Given the description of an element on the screen output the (x, y) to click on. 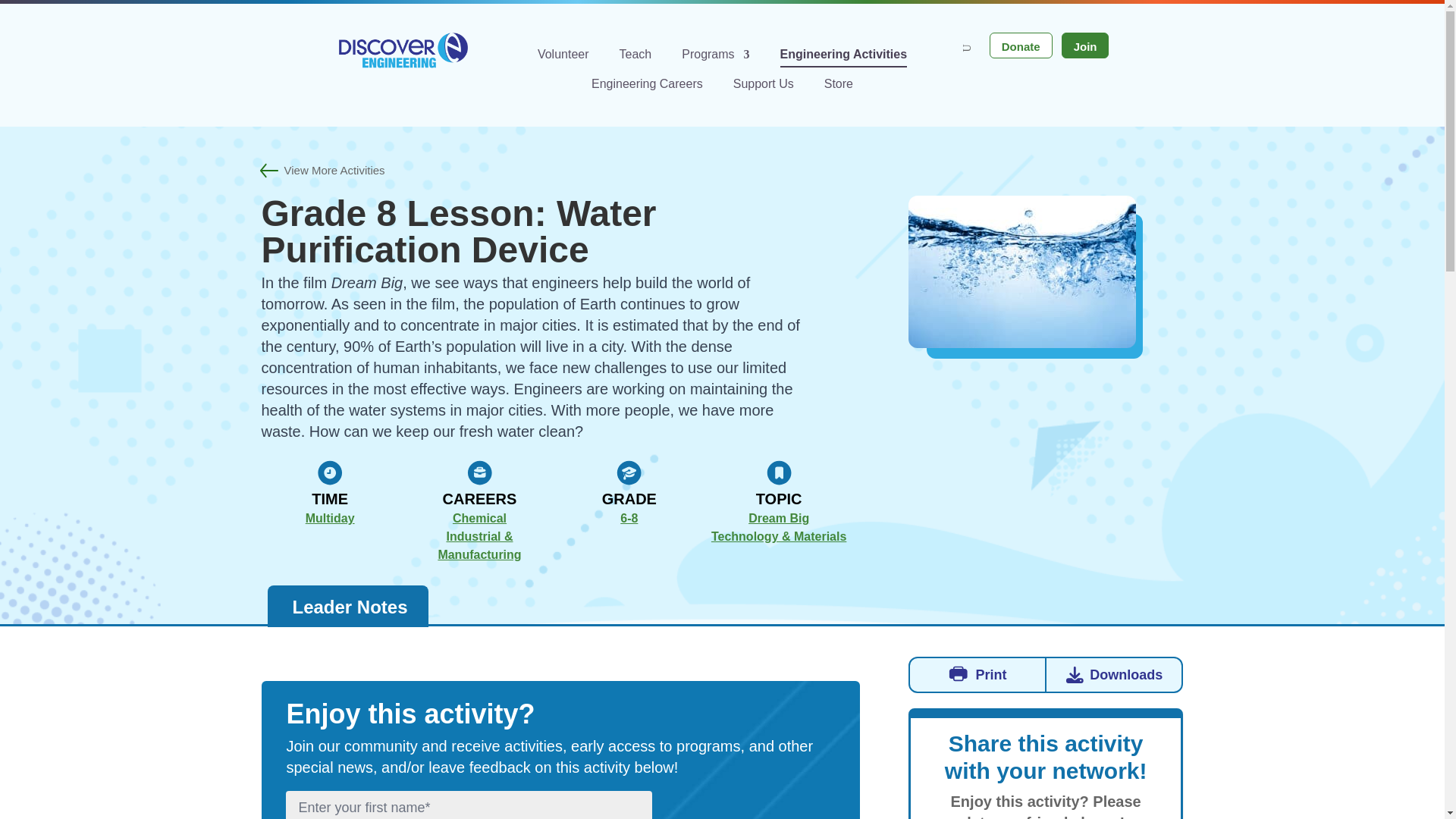
Engineering Careers (647, 86)
Link to Leader Notes page (347, 606)
Join (1085, 45)
Back to activities listing (321, 170)
Engineering Activities (843, 58)
Grade 8 Lesson: Water Purification Device (1021, 271)
Link to Chemical filtered listing page (479, 518)
Link to Print (976, 674)
Teach (636, 58)
Programs (715, 58)
